Given the description of an element on the screen output the (x, y) to click on. 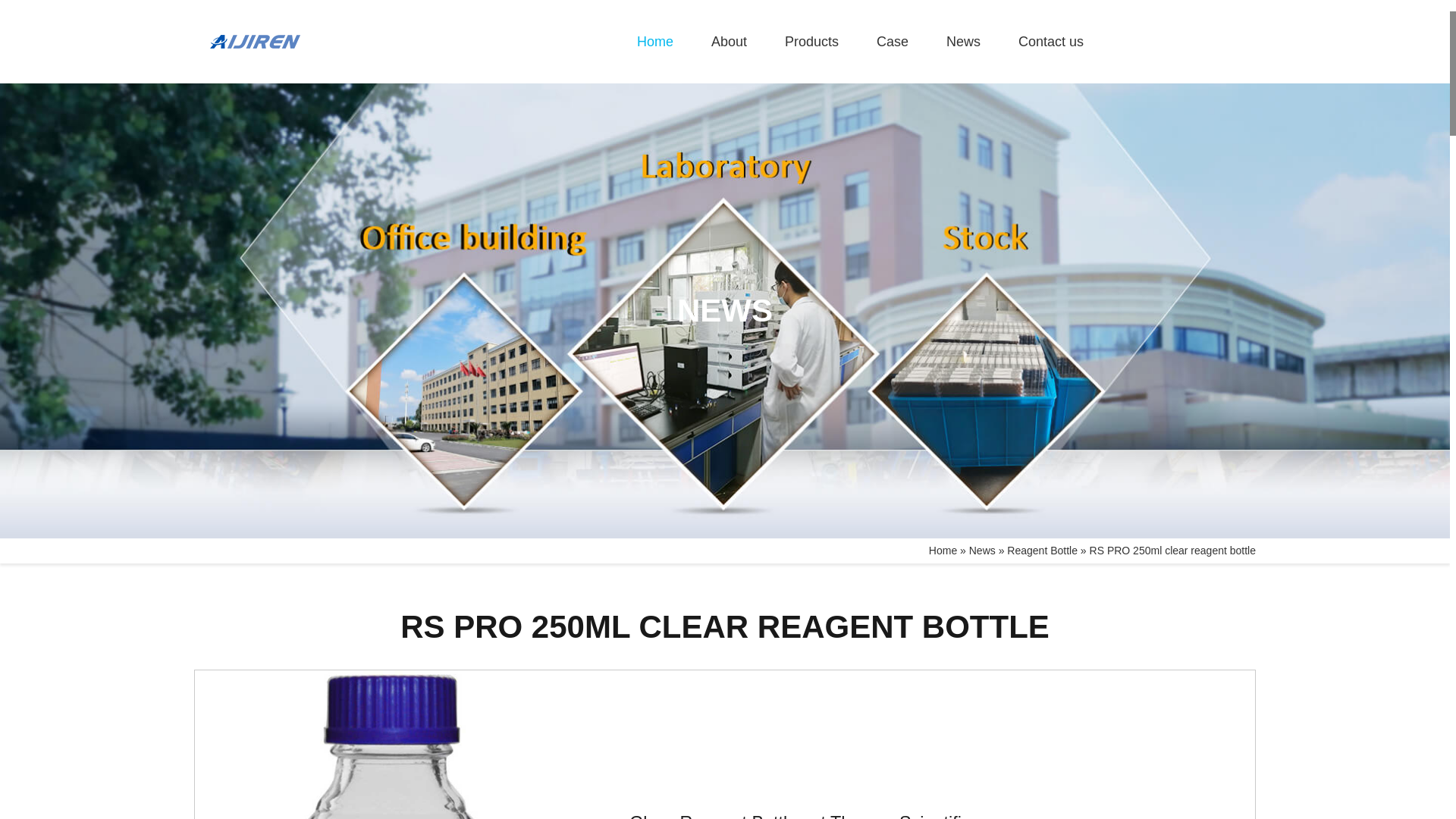
Home (655, 41)
Products (811, 41)
Reagent Bottle (1042, 550)
Products (811, 41)
News (982, 550)
Contact us (1050, 41)
Contact us (1050, 41)
Aijiren Autosampler Vials (655, 41)
